Given the description of an element on the screen output the (x, y) to click on. 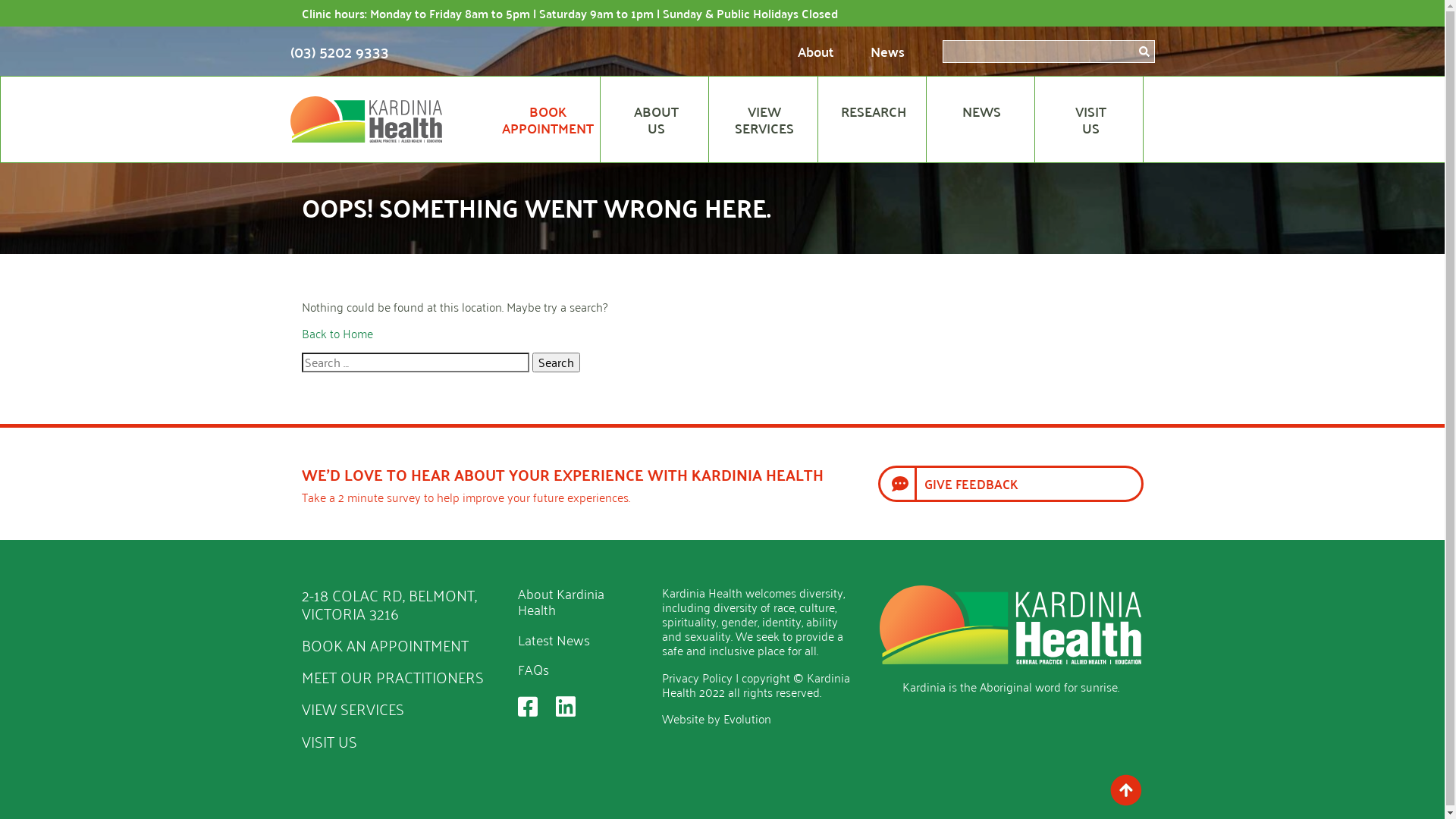
(03) 5202 9333 Element type: text (338, 50)
NEWS
  Element type: text (981, 119)
Search Element type: text (556, 361)
About Element type: text (815, 50)
BOOK AN APPOINTMENT Element type: text (384, 643)
Search for Element type: hover (415, 361)
News Element type: text (887, 50)
FAQs Element type: text (532, 668)
VIEW
SERVICES Element type: text (764, 119)
VIEW SERVICES Element type: text (352, 707)
ABOUT
US Element type: text (655, 119)
VISIT
US Element type: text (1090, 119)
VISIT US Element type: text (329, 739)
MEET OUR PRACTITIONERS Element type: text (392, 675)
Latest News Element type: text (553, 639)
About Kardinia Health Element type: text (560, 600)
RESEARCH
  Element type: text (873, 119)
Privacy Policy Element type: text (696, 676)
Website by Evolution Element type: text (715, 717)
Back to Home Element type: text (337, 332)
BOOK
APPOINTMENT Element type: text (547, 119)
2-18 COLAC RD, BELMONT, VICTORIA 3216 Element type: text (388, 602)
